Given the description of an element on the screen output the (x, y) to click on. 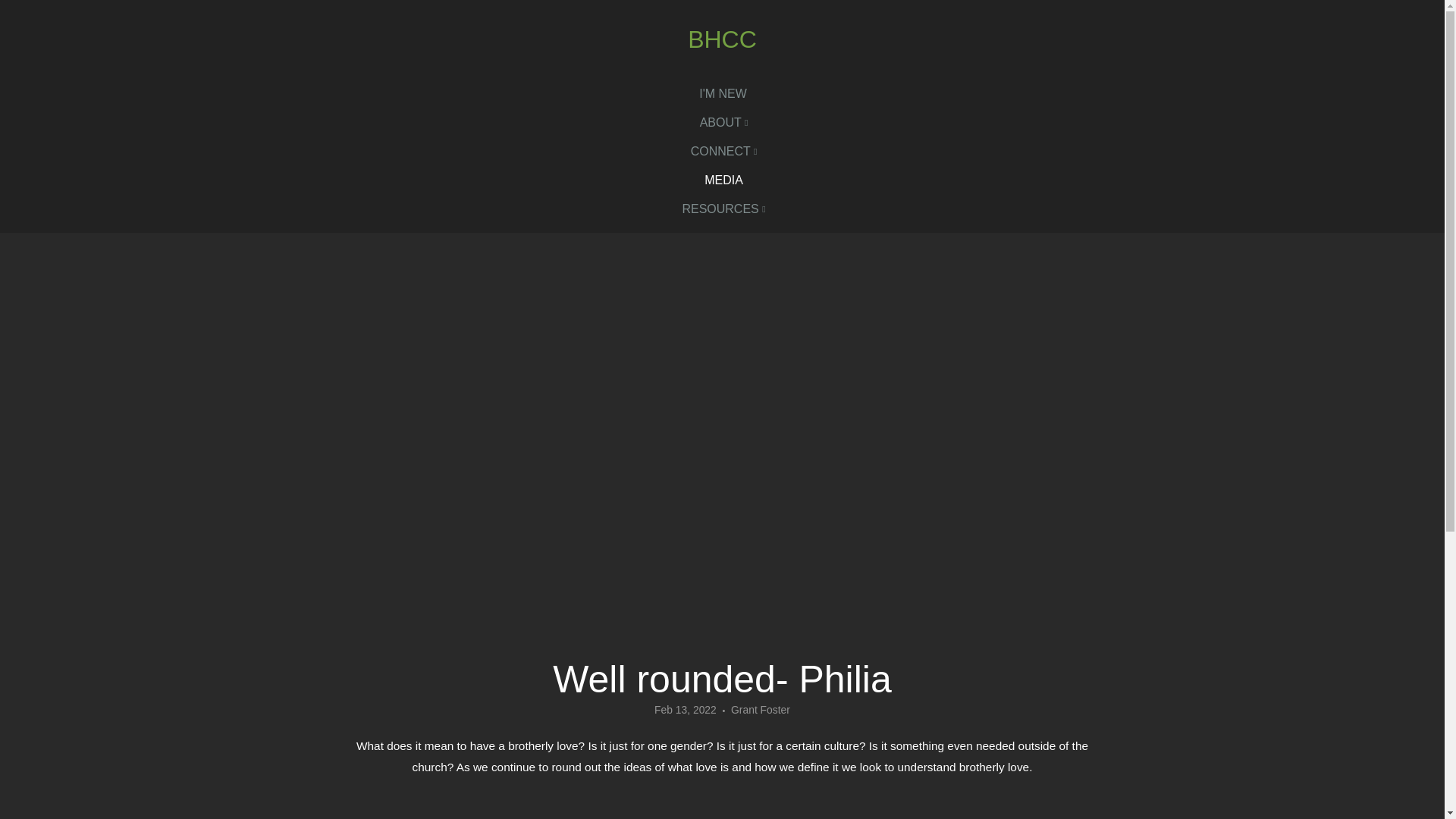
CONNECT  (724, 151)
BHCC (722, 39)
ABOUT  (723, 122)
RESOURCES  (723, 208)
I'M NEW (723, 93)
MEDIA (723, 180)
